Given the description of an element on the screen output the (x, y) to click on. 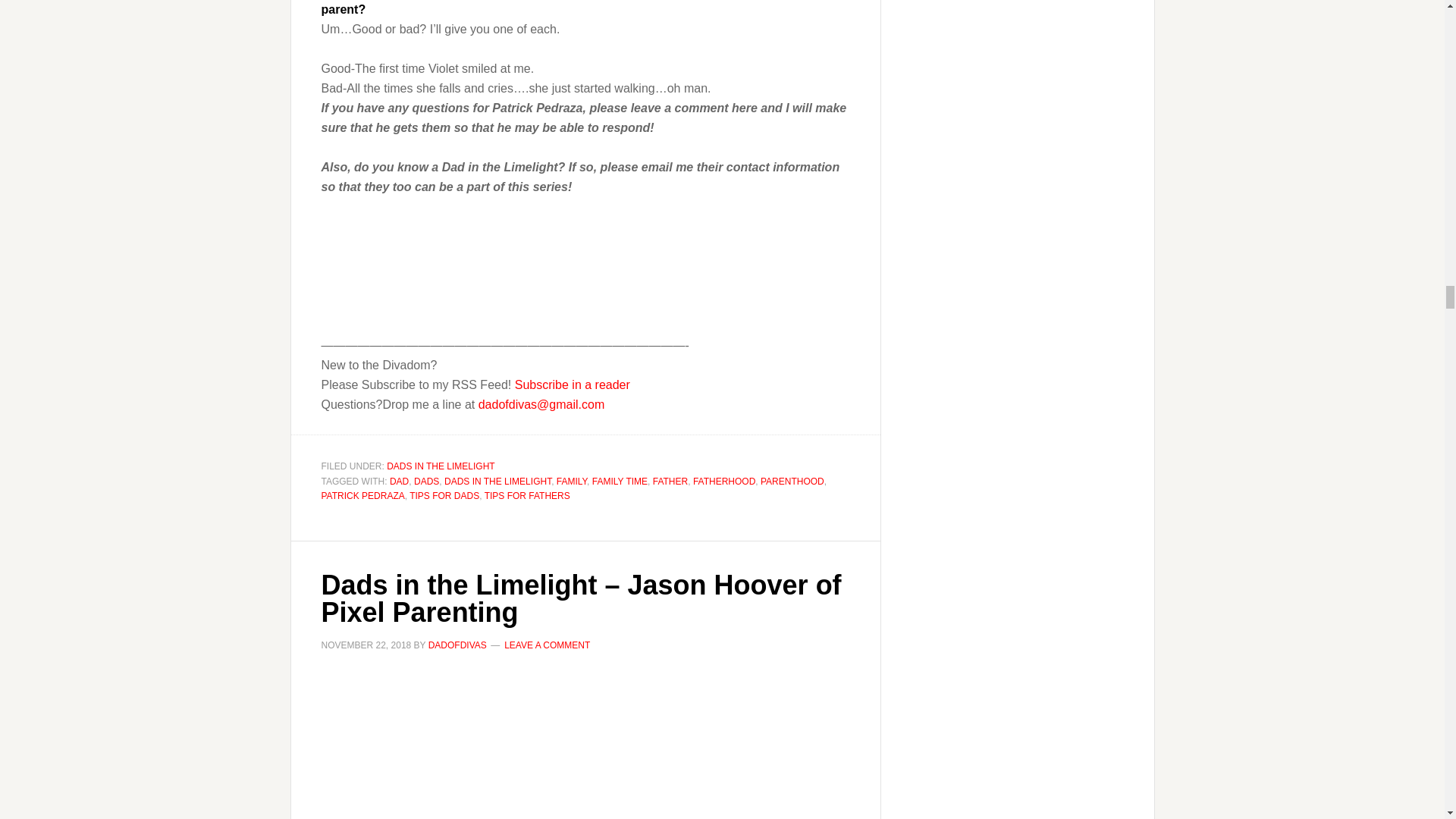
Dad of Divas, dadofdivas.com (367, 243)
Dads in the Limelight Series (585, 744)
